Given the description of an element on the screen output the (x, y) to click on. 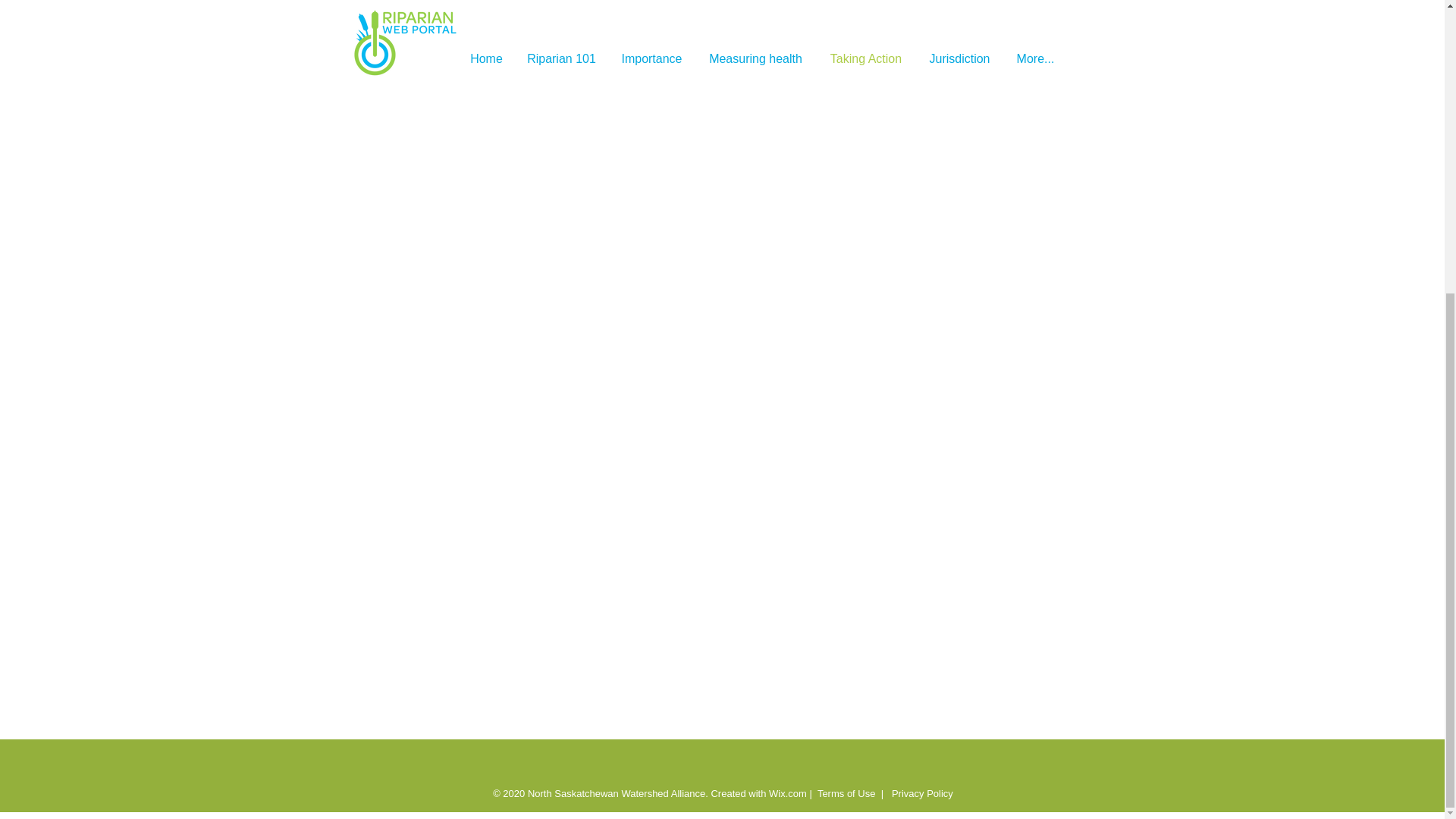
Wix.com (787, 793)
 Privacy Policy (920, 793)
Terms of Use (846, 793)
